Given the description of an element on the screen output the (x, y) to click on. 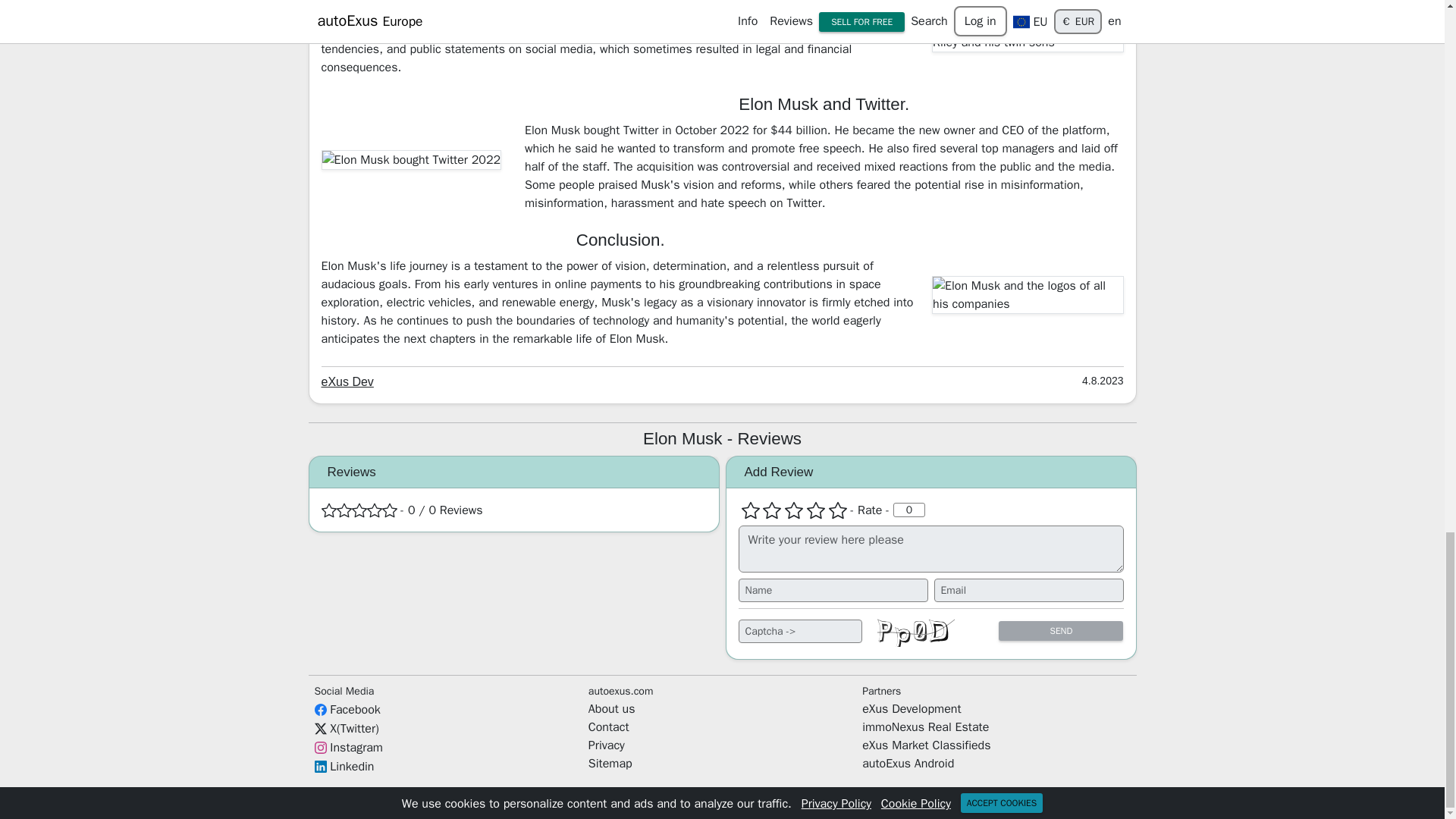
Elon Musk and the logos of all his companies (1027, 294)
Elon Musk bought Twitter 2022 (411, 158)
Elon Musk with ex-wife Talulah Riley and his twin sons (1027, 33)
SEND (1060, 630)
eXus Dev (347, 381)
